Given the description of an element on the screen output the (x, y) to click on. 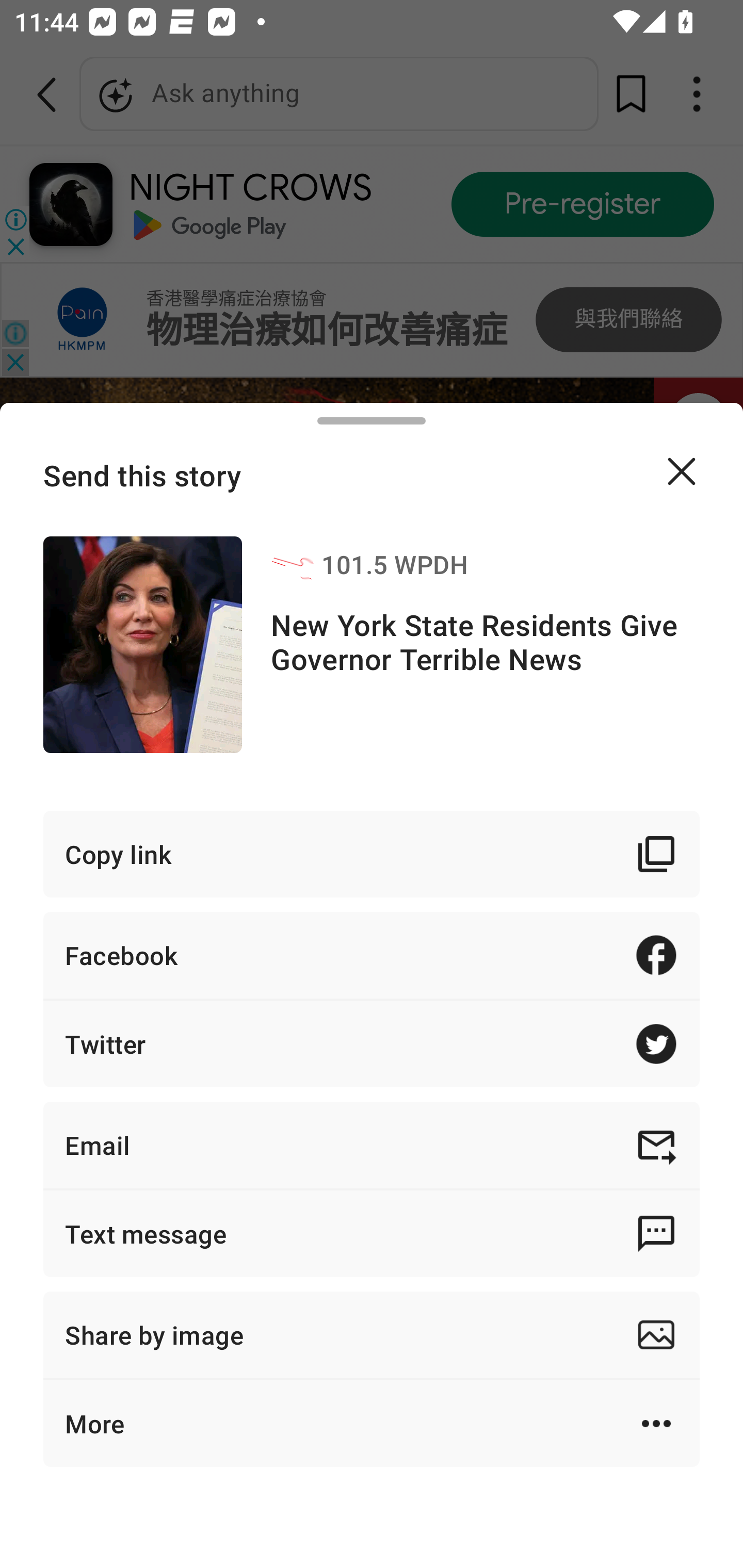
Copy link (371, 853)
Facebook (371, 955)
Twitter (371, 1043)
Email (371, 1145)
Text message (371, 1233)
Share by image (371, 1335)
More (371, 1423)
